Given the description of an element on the screen output the (x, y) to click on. 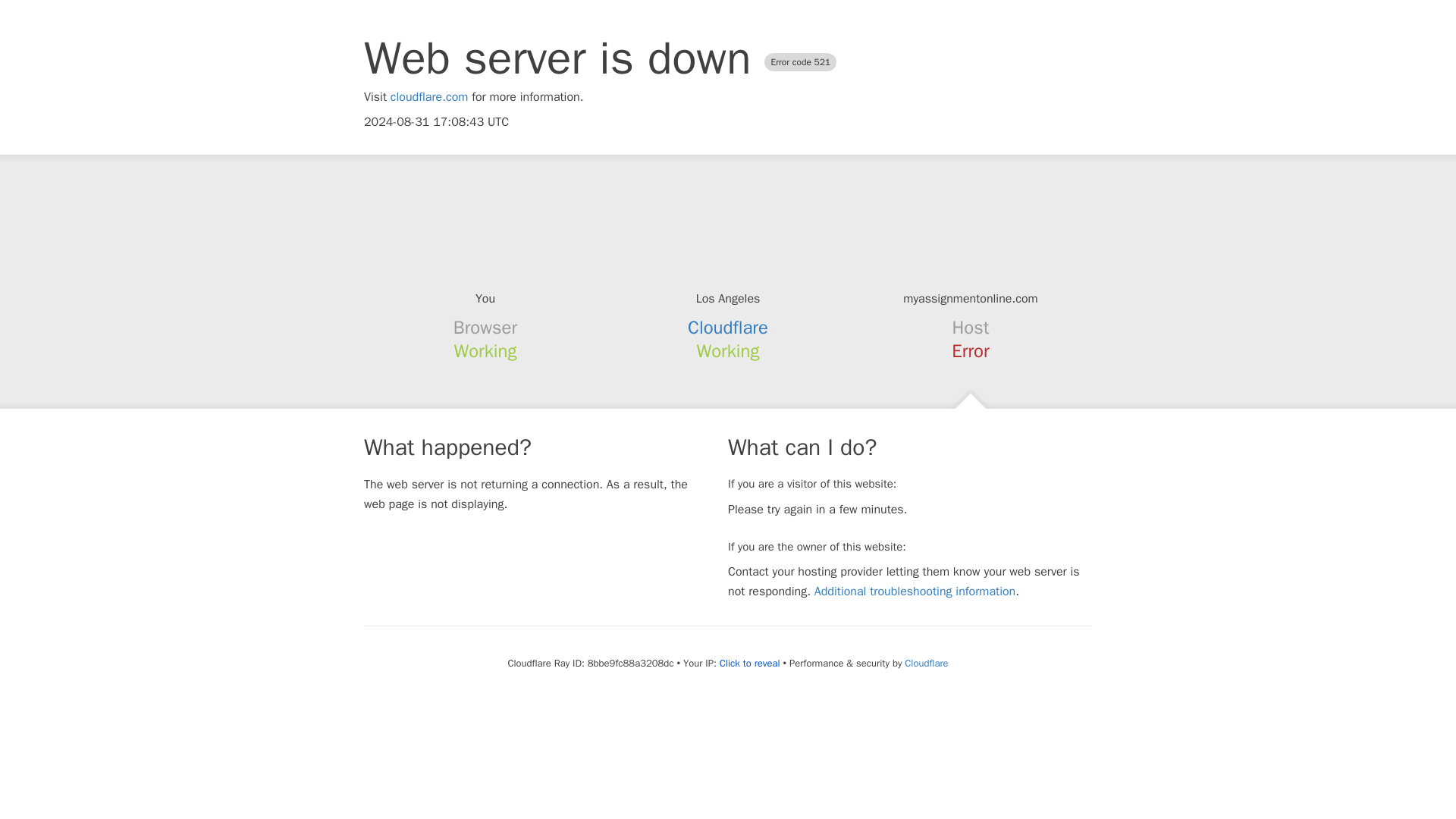
Cloudflare (925, 662)
cloudflare.com (429, 96)
Additional troubleshooting information (913, 590)
Cloudflare (727, 327)
Click to reveal (749, 663)
